Given the description of an element on the screen output the (x, y) to click on. 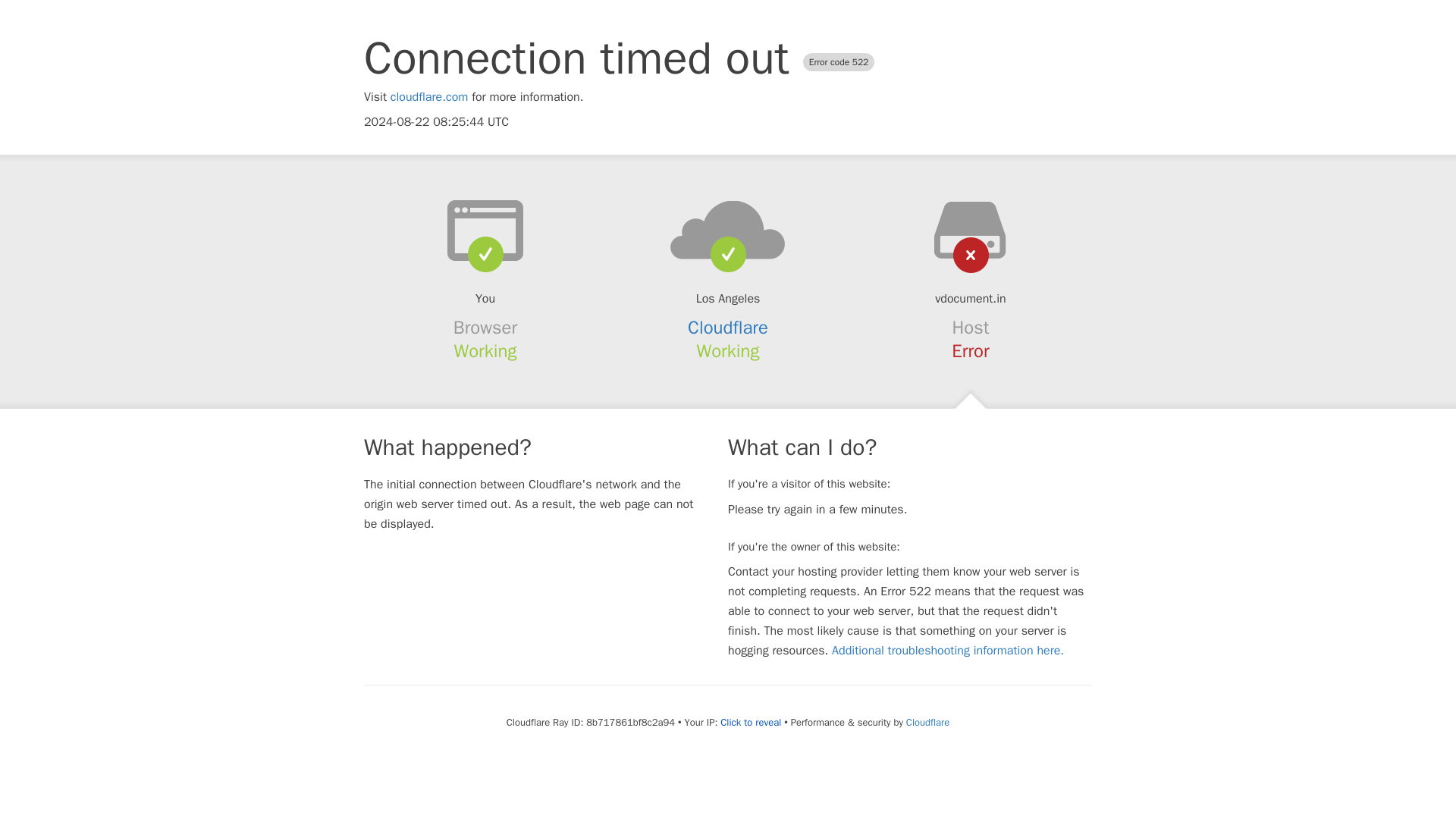
cloudflare.com (429, 96)
Additional troubleshooting information here. (947, 650)
Cloudflare (927, 721)
Click to reveal (750, 722)
Cloudflare (727, 327)
